Given the description of an element on the screen output the (x, y) to click on. 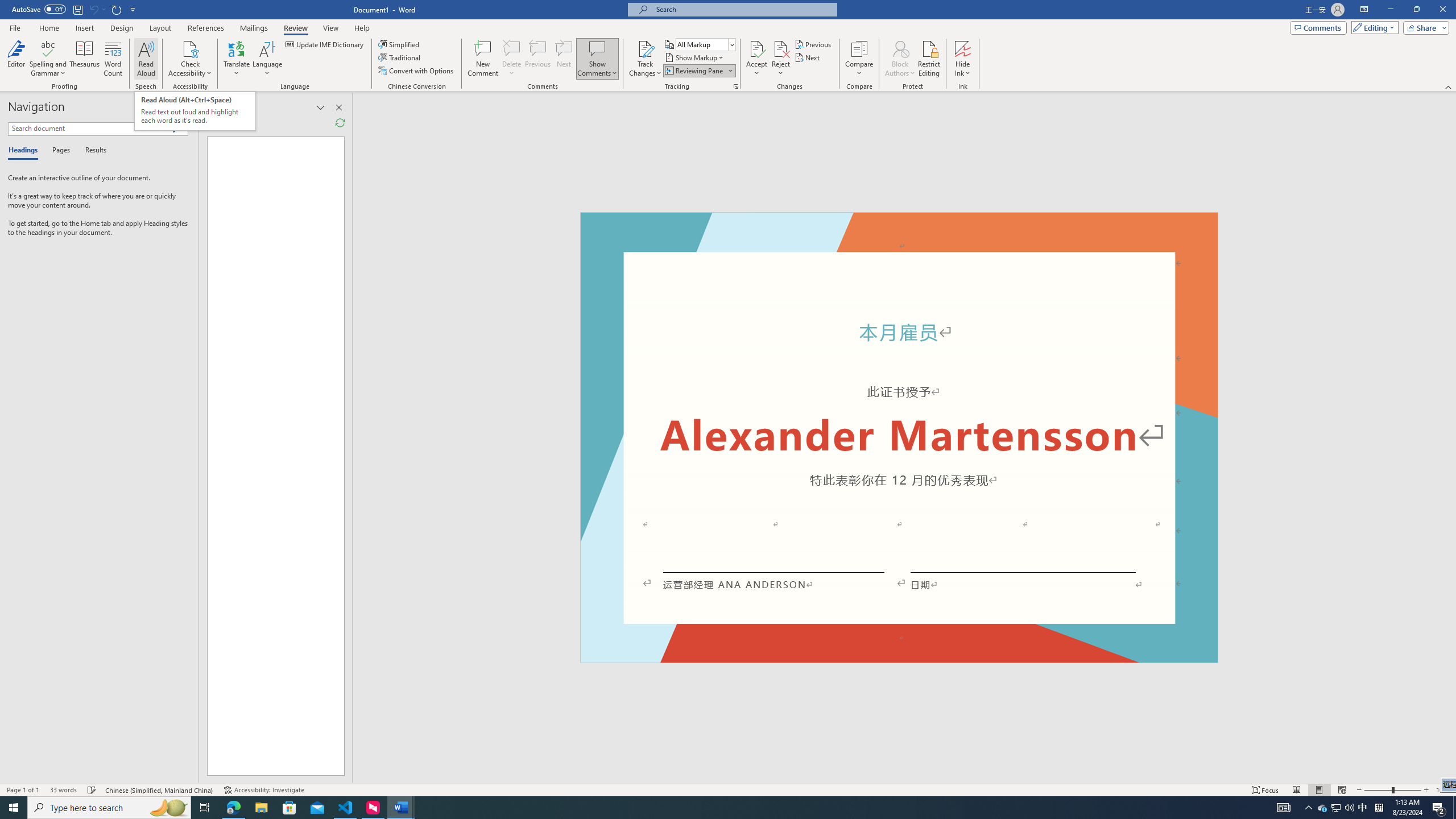
Display for Review (705, 44)
Search (177, 128)
Word Count (113, 58)
Thesaurus... (84, 58)
Zoom (1392, 790)
AutoSave (38, 9)
Check Accessibility (189, 58)
More Options (962, 68)
Accessibility Checker Accessibility: Investigate (263, 790)
Show Comments (597, 48)
Share (1423, 27)
Minimize (1390, 9)
Close pane (185, 107)
Page 1 content (898, 445)
Next (808, 56)
